Given the description of an element on the screen output the (x, y) to click on. 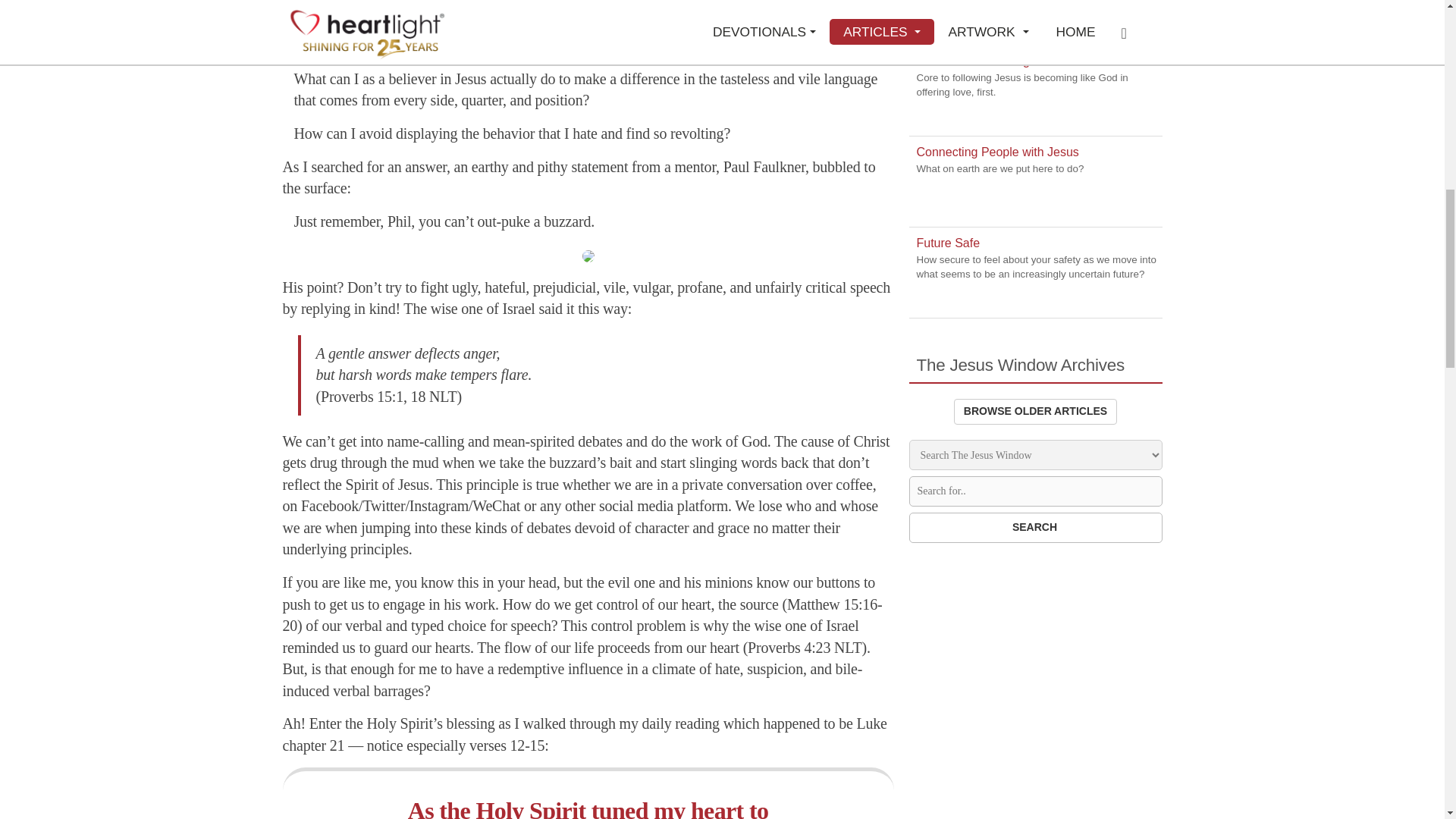
Search (1034, 527)
Search (1034, 527)
